Given the description of an element on the screen output the (x, y) to click on. 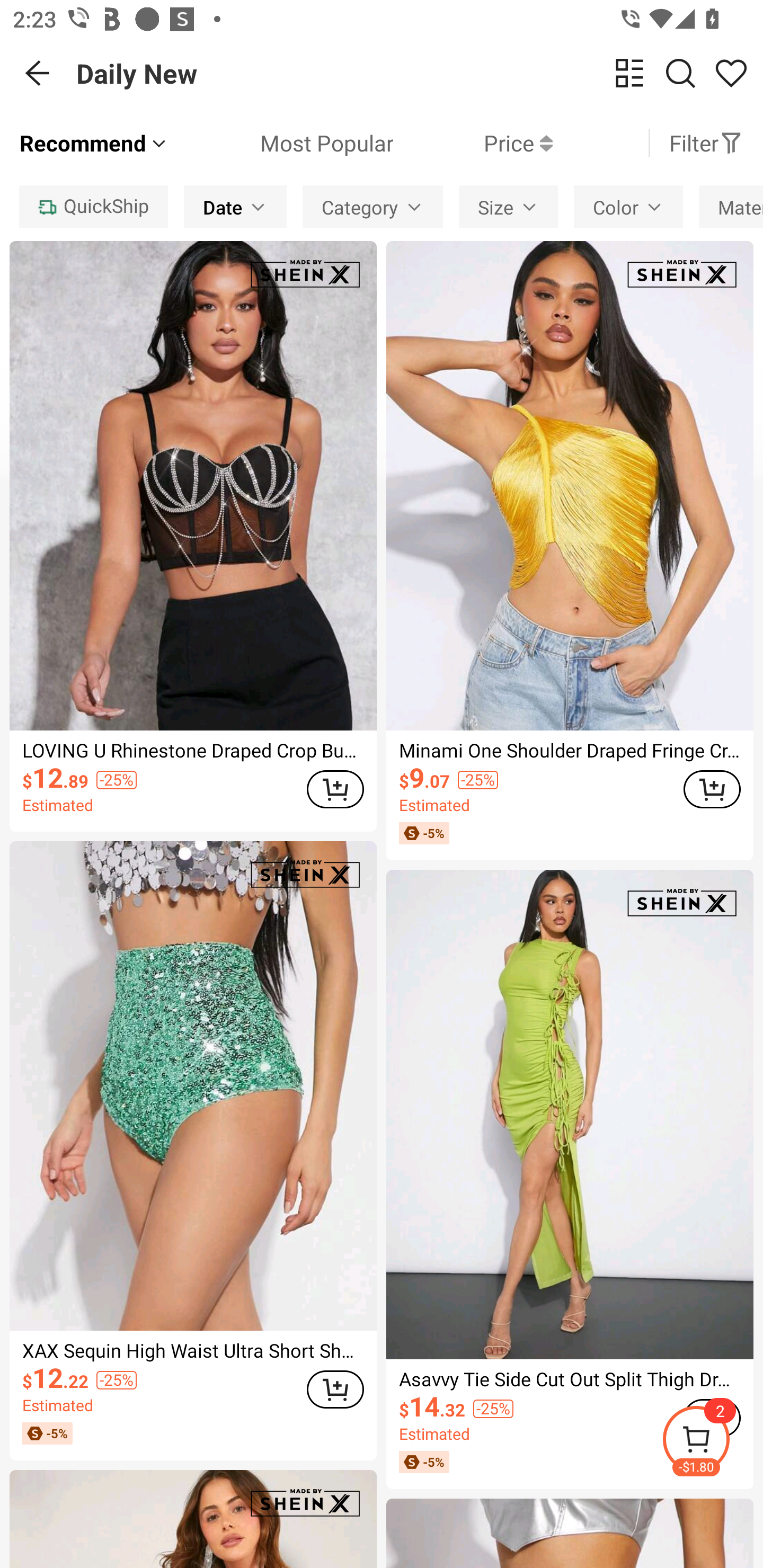
Daily New change view Search Share (419, 72)
change view (629, 72)
Search (679, 72)
Share (730, 72)
Recommend (94, 143)
Most Popular (280, 143)
Price (472, 143)
Filter (705, 143)
QuickShip (93, 206)
Date (234, 206)
Category (372, 206)
Size (507, 206)
Color (627, 206)
ADD TO CART (334, 789)
ADD TO CART (711, 789)
ADD TO CART (334, 1389)
-$1.80 (712, 1441)
